Given the description of an element on the screen output the (x, y) to click on. 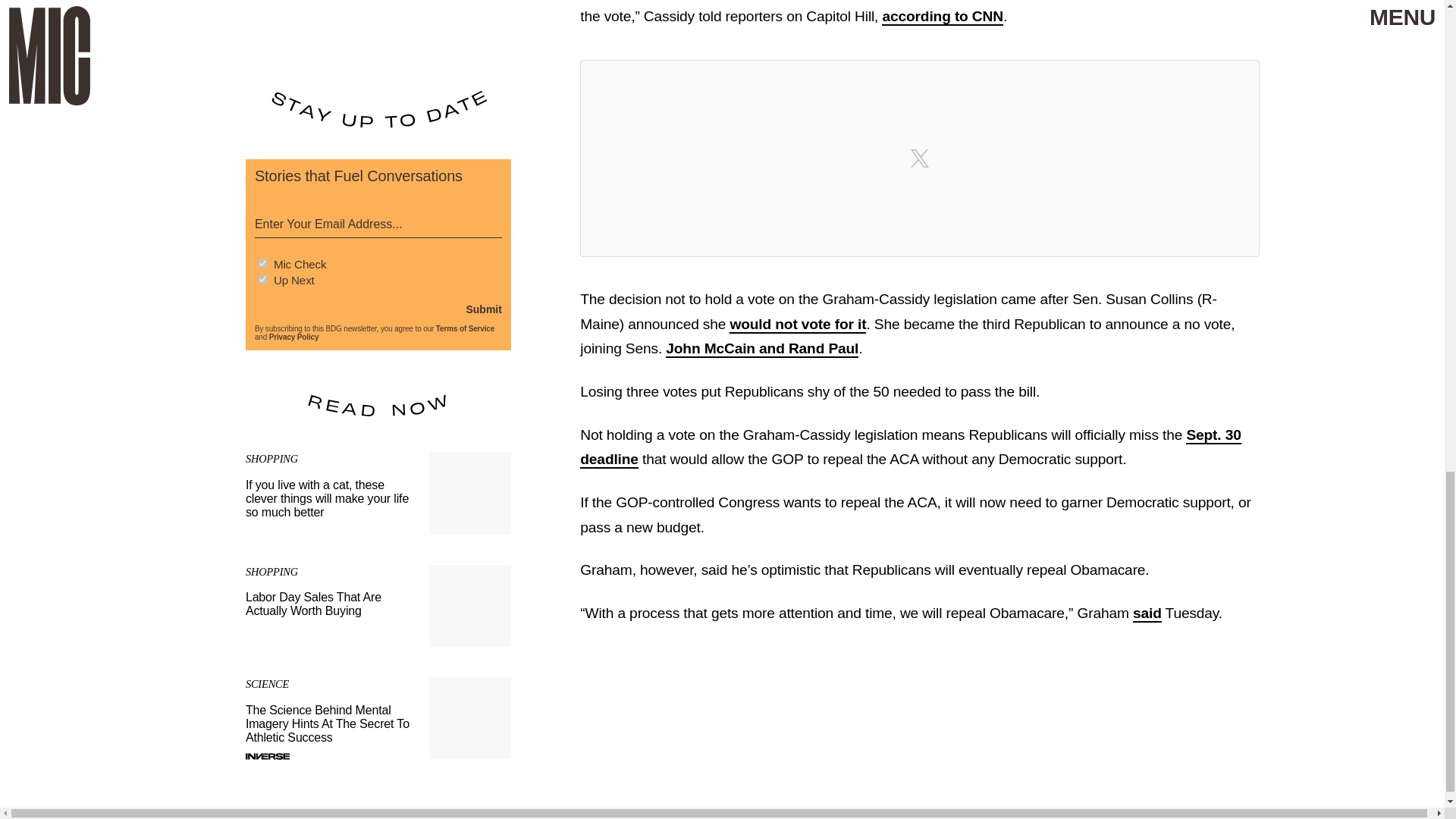
Submit (482, 309)
John McCain and Rand Paul (762, 348)
Terms of Service (378, 606)
Privacy Policy (465, 328)
said (293, 336)
Sept. 30 deadline (1146, 613)
according to CNN (909, 447)
